Given the description of an element on the screen output the (x, y) to click on. 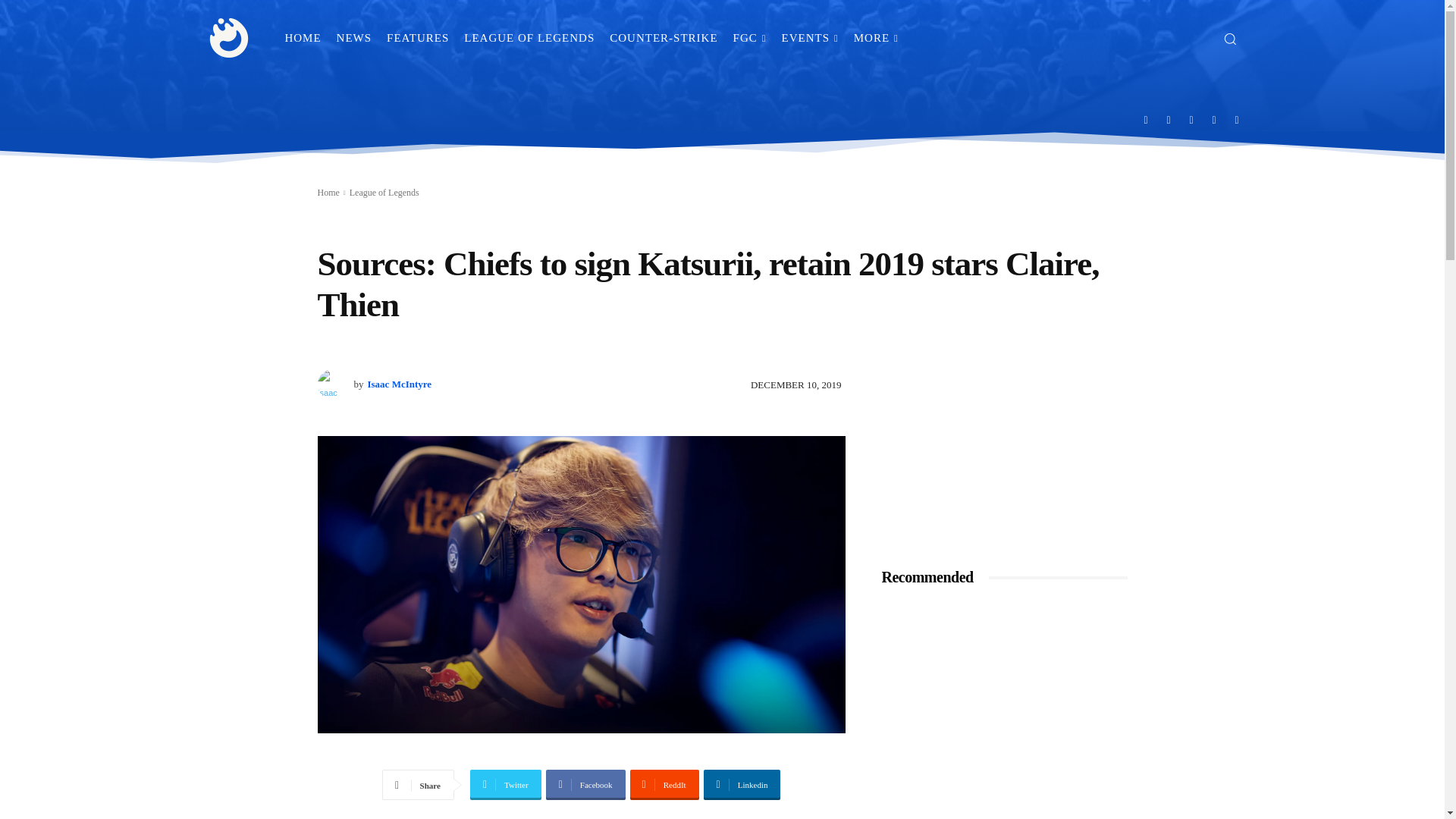
Snowball Esports (228, 37)
Twitch (1191, 119)
Twitter (1214, 119)
Instagram (1169, 119)
Youtube (1237, 119)
Facebook (1145, 119)
